Given the description of an element on the screen output the (x, y) to click on. 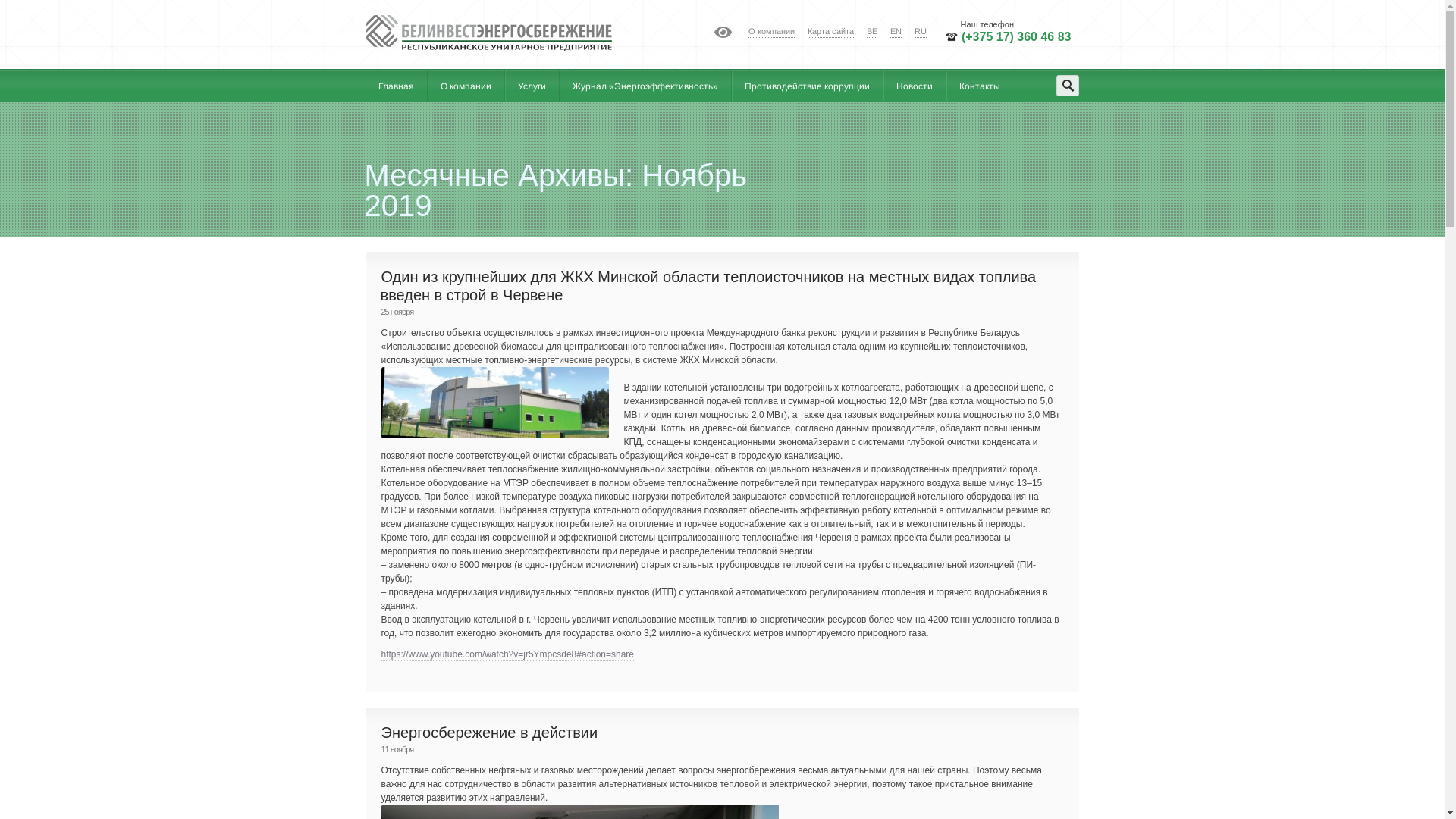
EN Element type: text (895, 31)
https://www.youtube.com/watch?v=jr5Ympcsde8#action=share Element type: text (506, 654)
RU Element type: text (920, 31)
BE Element type: text (871, 31)
